Given the description of an element on the screen output the (x, y) to click on. 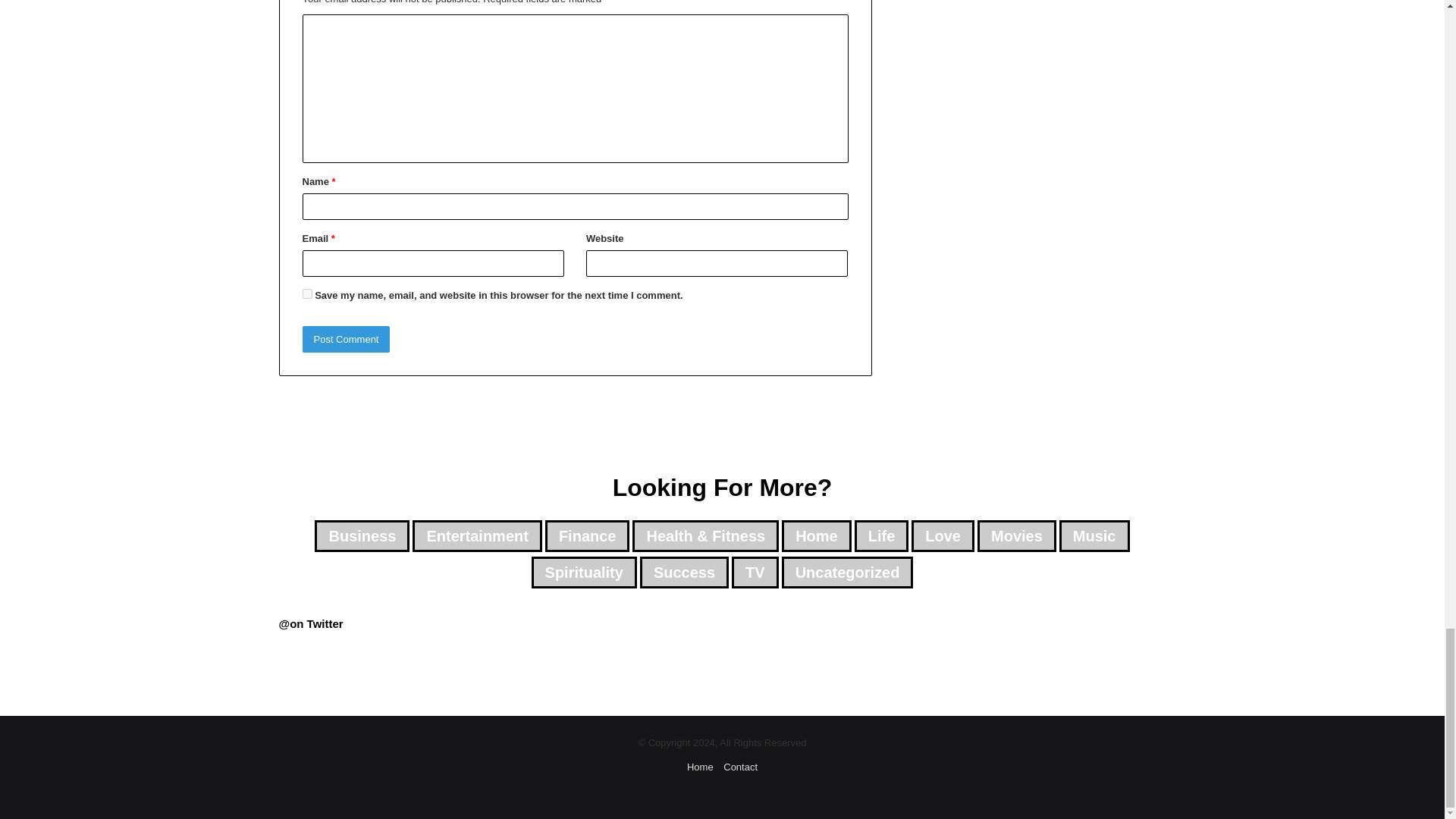
yes (306, 293)
Post Comment (345, 338)
